Given the description of an element on the screen output the (x, y) to click on. 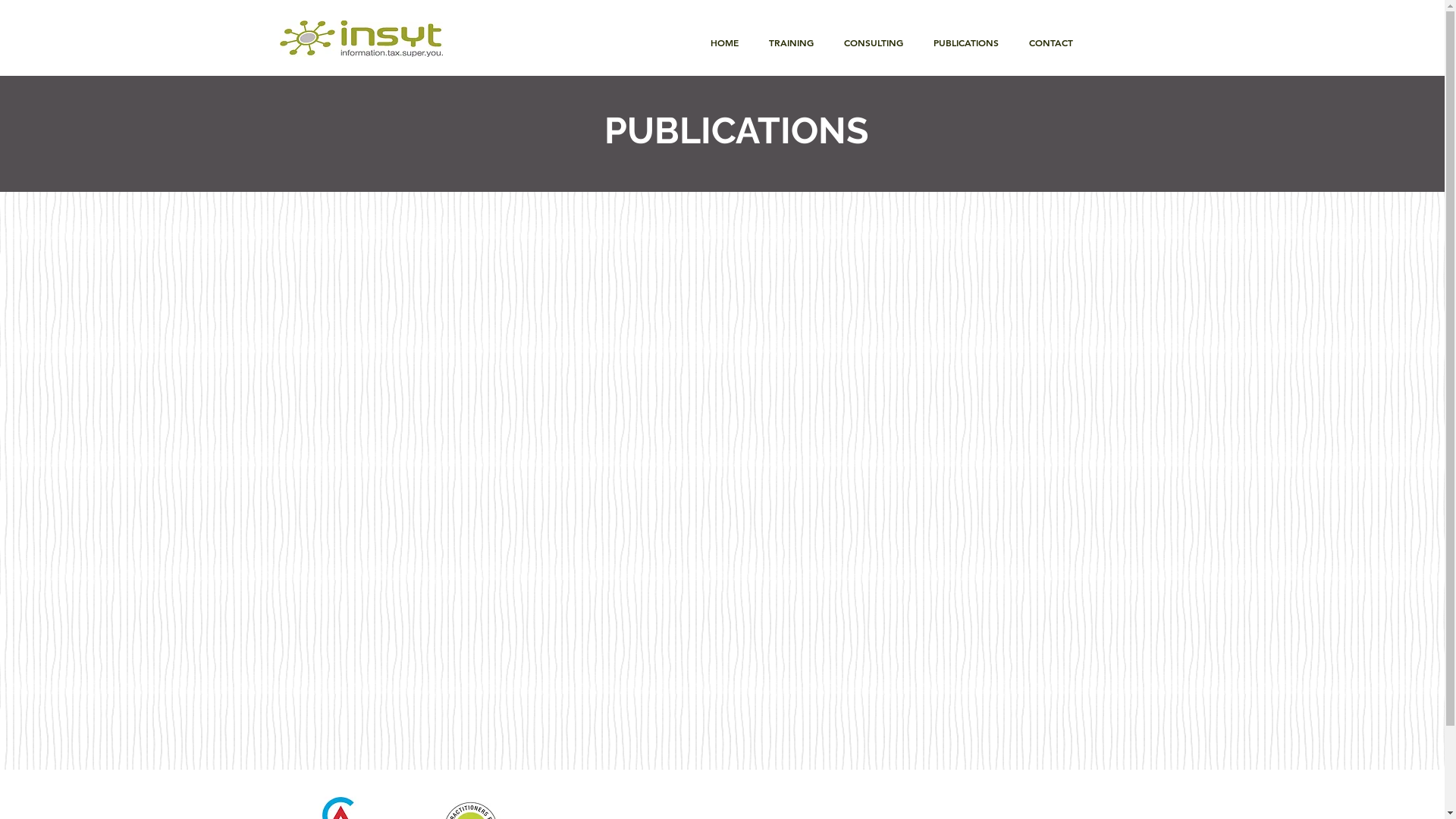
HOME Element type: text (723, 42)
TRAINING Element type: text (790, 42)
JOIN OUR MAILING LIST Element type: text (1179, 35)
CONTACT Element type: text (1050, 42)
CONSULTING Element type: text (872, 42)
PUBLICATIONS Element type: text (965, 42)
